Given the description of an element on the screen output the (x, y) to click on. 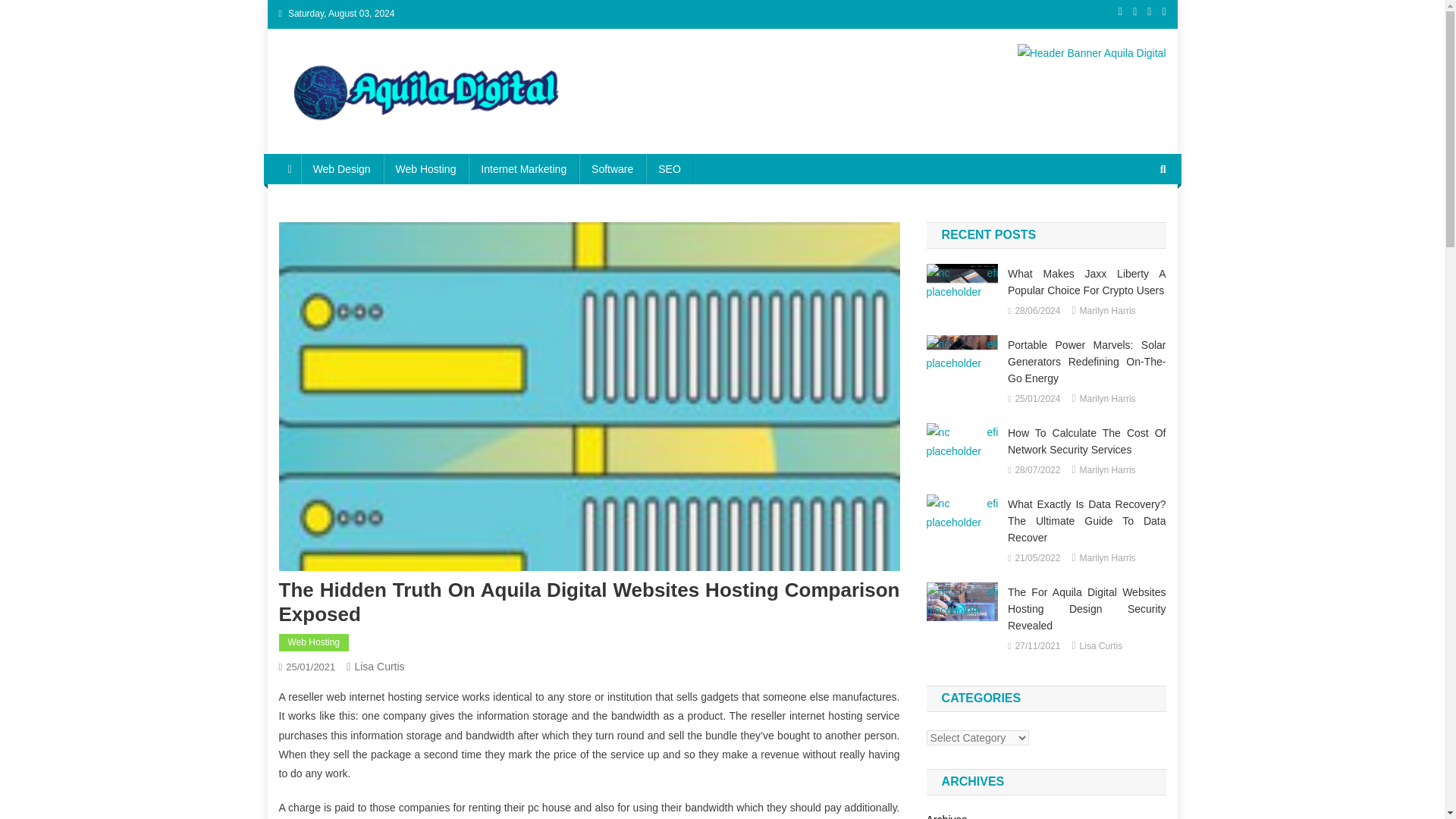
Lisa Curtis (378, 666)
Aquila Digital (356, 138)
What Makes Jaxx Liberty a Popular Choice for Crypto Users (962, 282)
Web Hosting (426, 168)
SEO (669, 168)
Web Design (341, 168)
Software (612, 168)
Search (1133, 249)
